Given the description of an element on the screen output the (x, y) to click on. 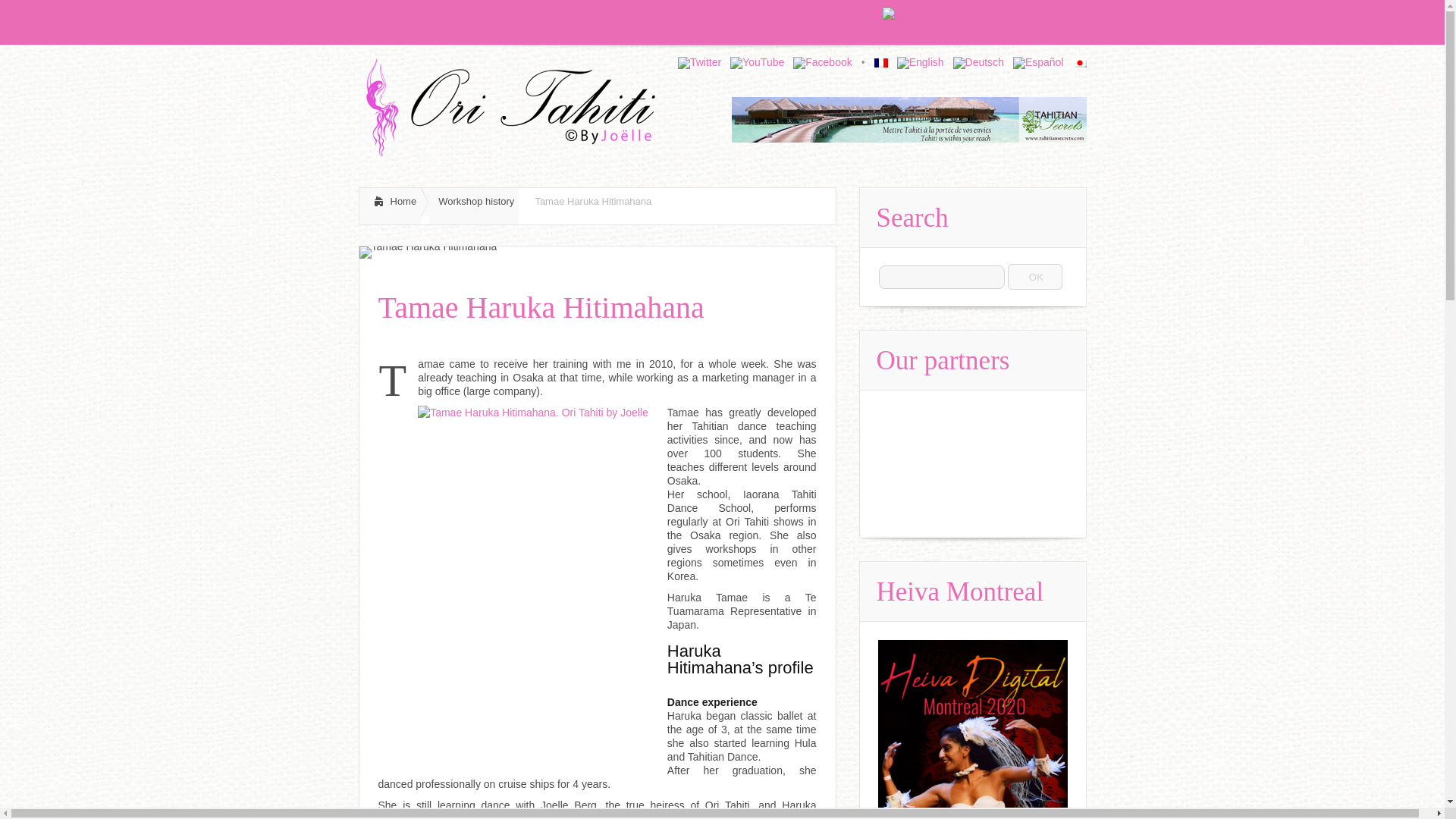
OK (1035, 276)
Tahiti Art (757, 102)
Air Tahiti nui (908, 119)
